Given the description of an element on the screen output the (x, y) to click on. 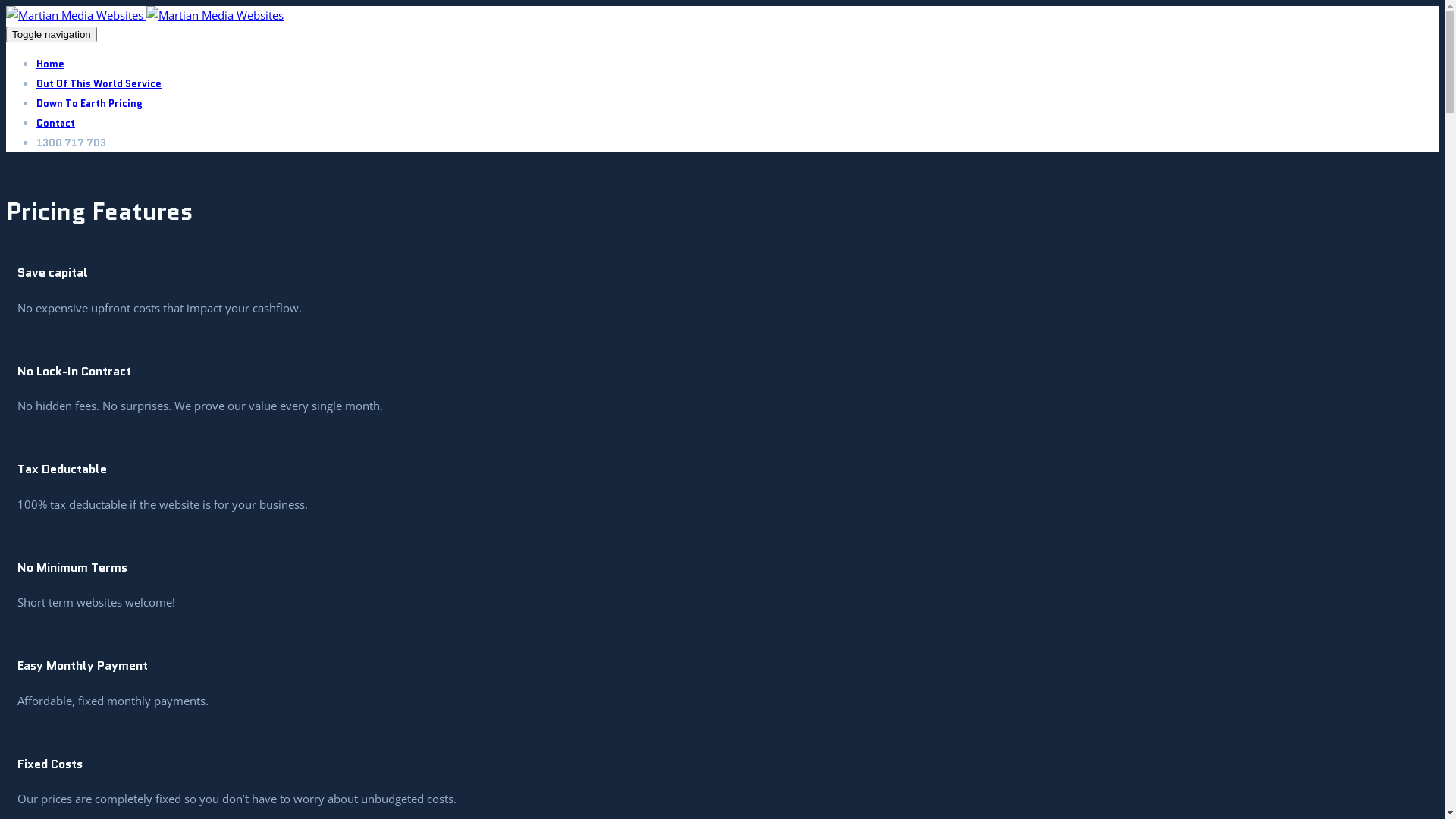
Contact Element type: text (55, 123)
Toggle navigation Element type: text (51, 34)
Down To Earth Pricing Element type: text (89, 103)
Out of This World Service Element type: hover (74, 15)
Out Of This World Service Element type: text (98, 83)
Out of This World Service Element type: hover (214, 15)
Home Element type: text (50, 63)
1300 717 703 Element type: text (71, 142)
